Given the description of an element on the screen output the (x, y) to click on. 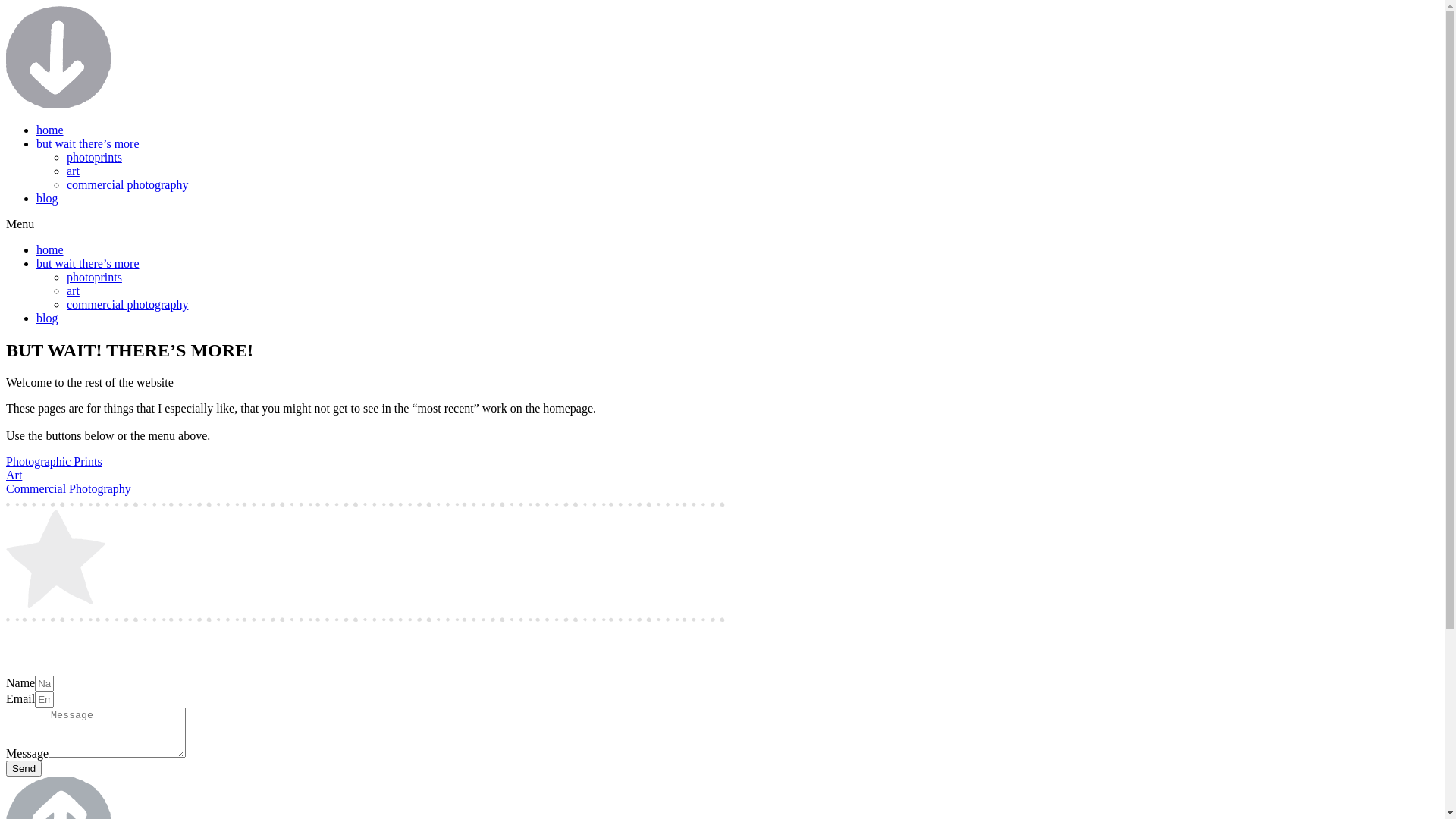
photoprints Element type: text (94, 156)
commercial photography Element type: text (127, 304)
art Element type: text (72, 170)
home Element type: text (49, 249)
commercial photography Element type: text (127, 184)
Send Element type: text (23, 768)
blog Element type: text (46, 197)
blog Element type: text (46, 317)
home Element type: text (49, 129)
art Element type: text (72, 290)
Art Element type: text (13, 474)
Photographic Prints Element type: text (54, 461)
photoprints Element type: text (94, 276)
Commercial Photography Element type: text (68, 488)
